Given the description of an element on the screen output the (x, y) to click on. 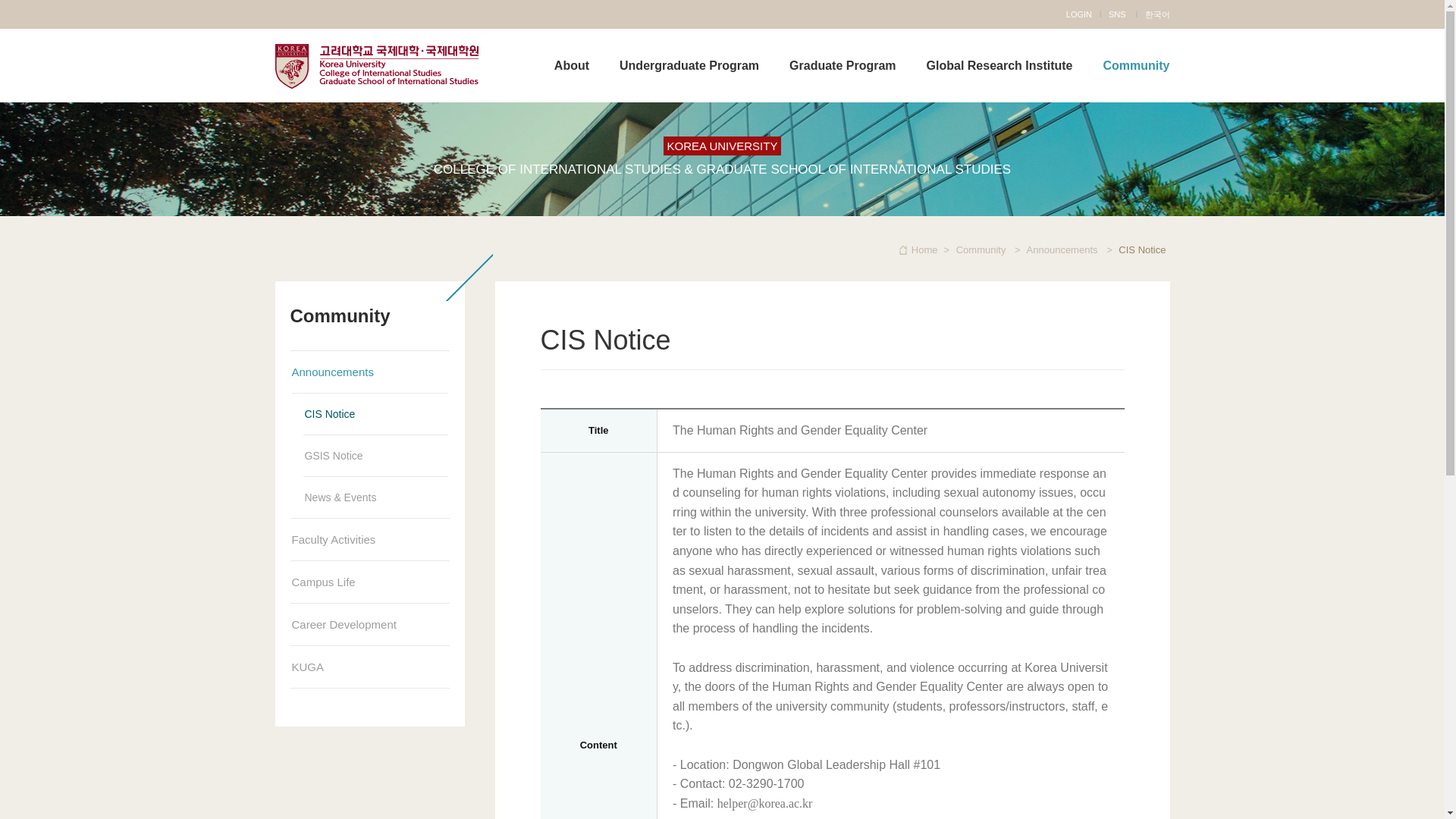
About (571, 65)
Undergraduate Program (689, 65)
LOGIN (1078, 13)
About (571, 65)
